Given the description of an element on the screen output the (x, y) to click on. 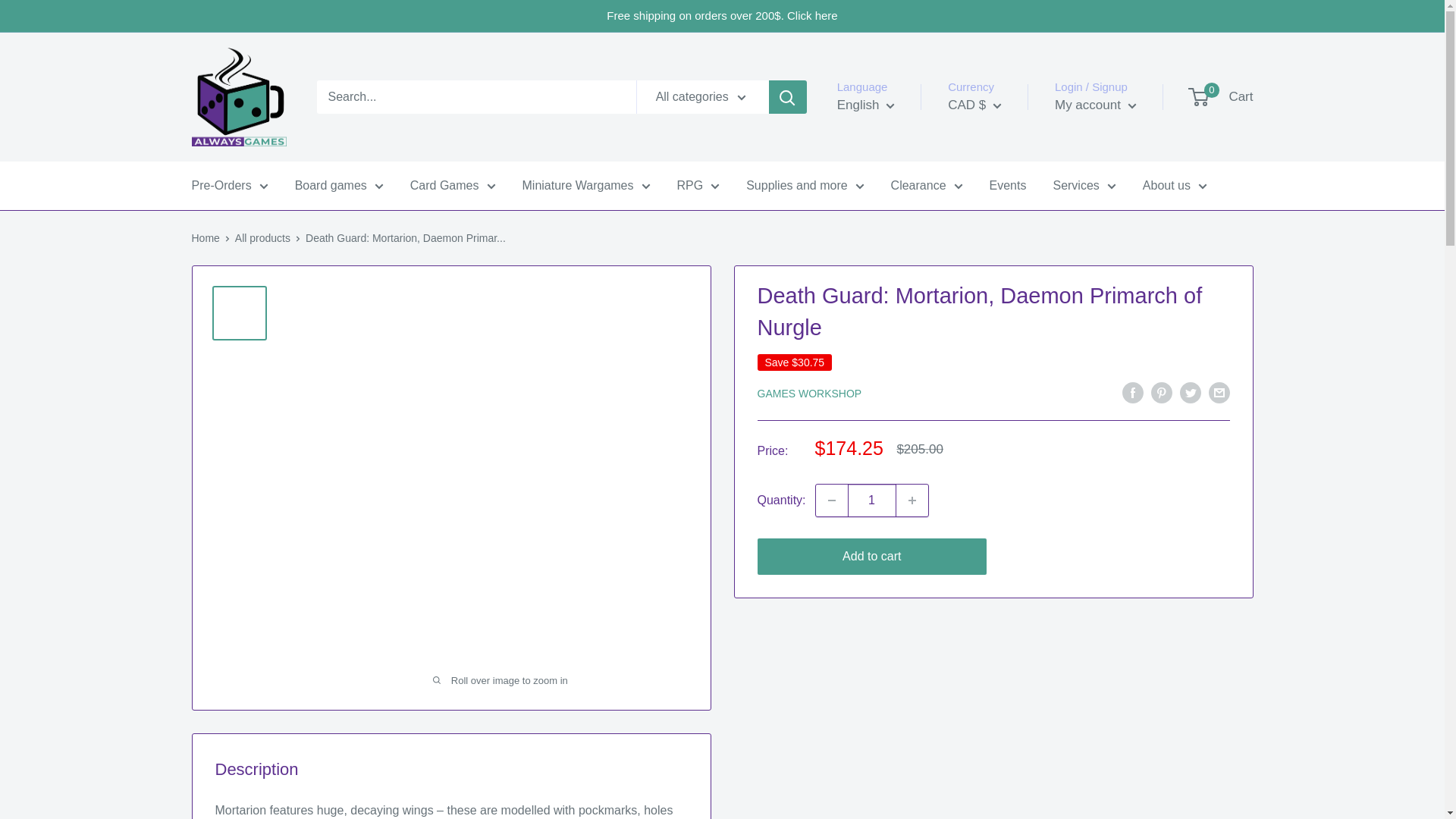
1 (871, 500)
Decrease quantity by 1 (831, 500)
Increase quantity by 1 (912, 500)
